Given the description of an element on the screen output the (x, y) to click on. 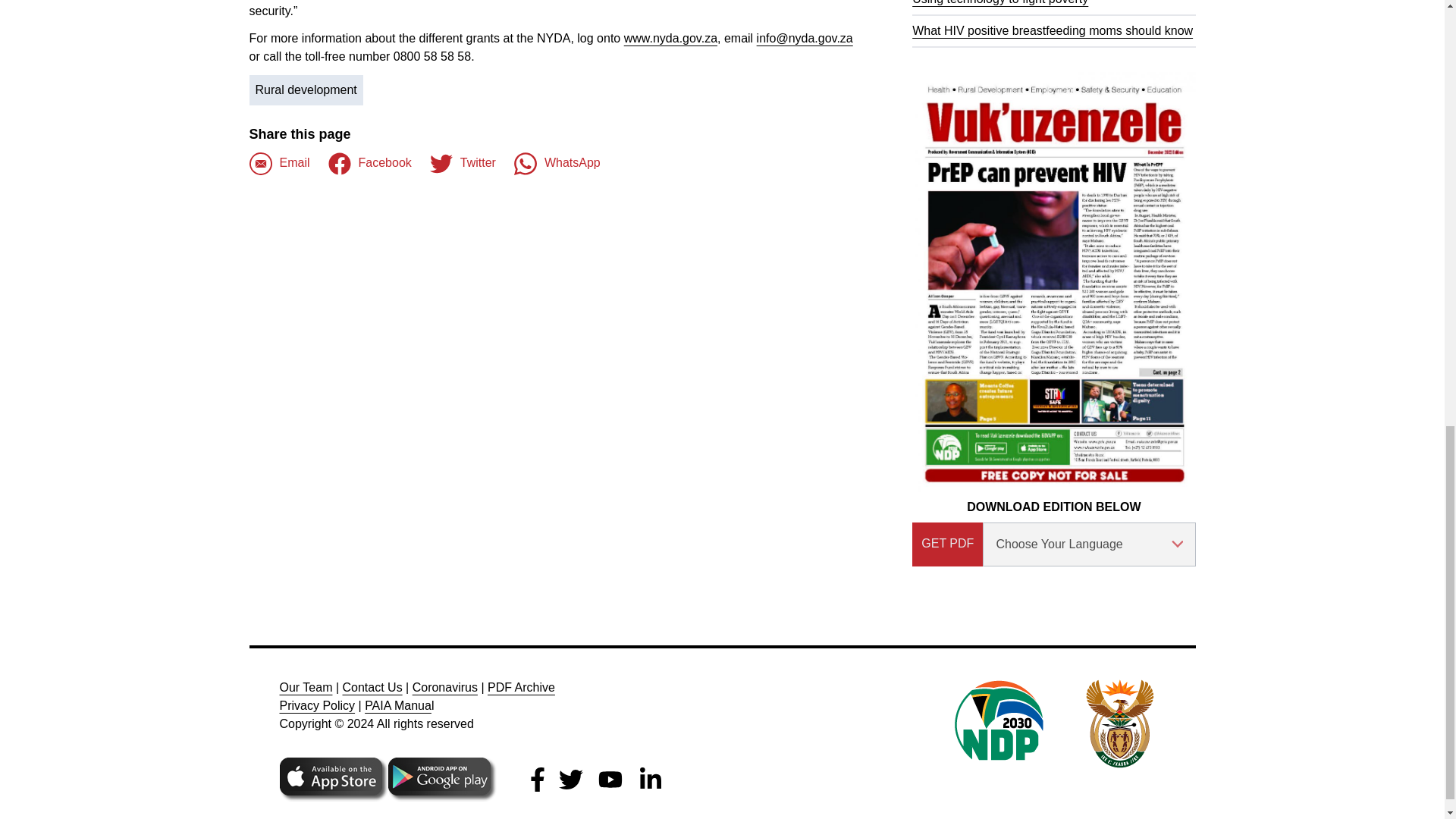
www.nyda.gov.za (670, 38)
Share on Facebook (370, 163)
Choose Your Language (1088, 544)
Share on Facebook (278, 163)
Share on Twitter (462, 163)
Rural development (305, 90)
